Given the description of an element on the screen output the (x, y) to click on. 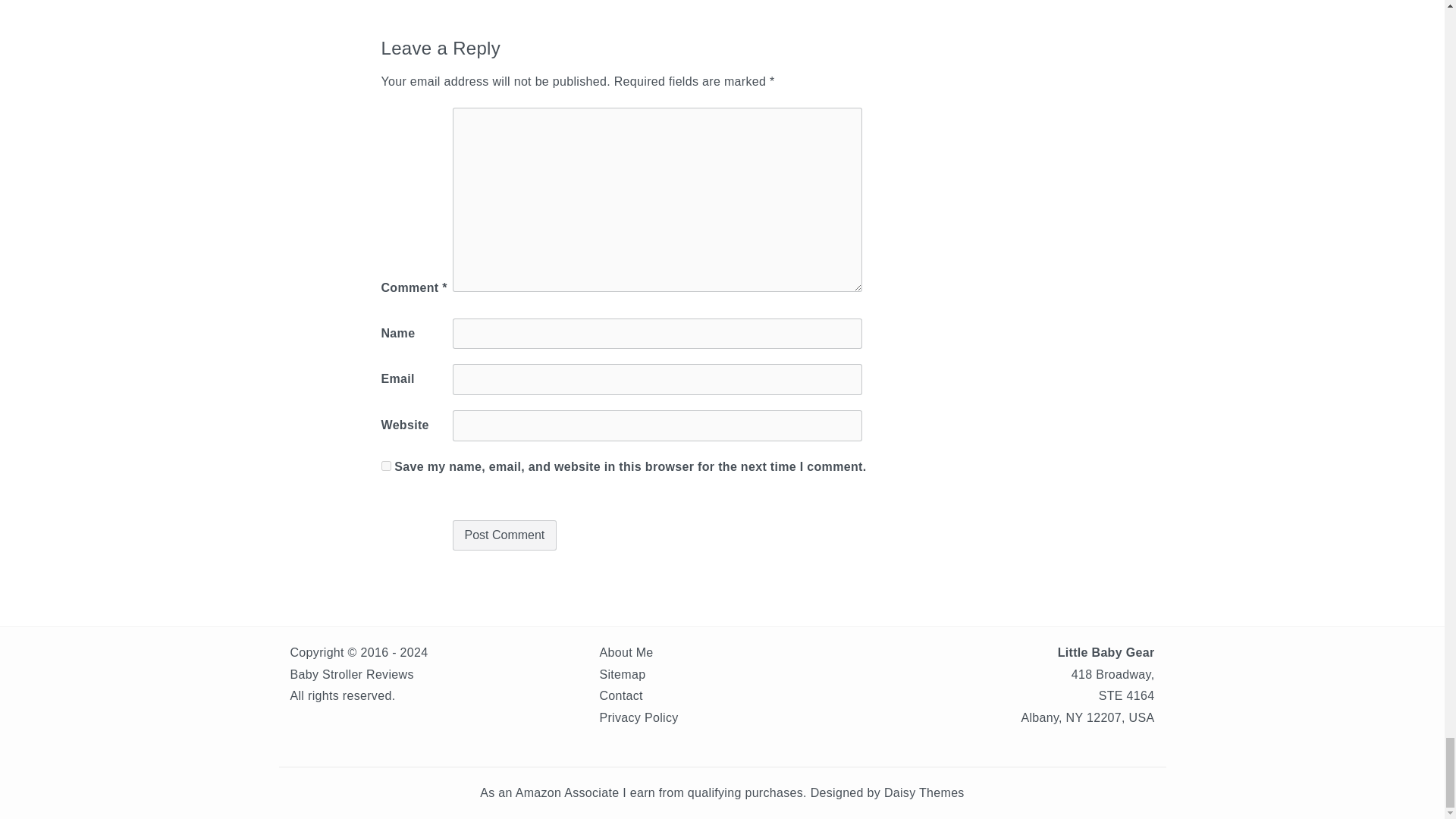
yes (385, 465)
Baby Stroller Reviews (351, 674)
Post Comment (503, 535)
